Given the description of an element on the screen output the (x, y) to click on. 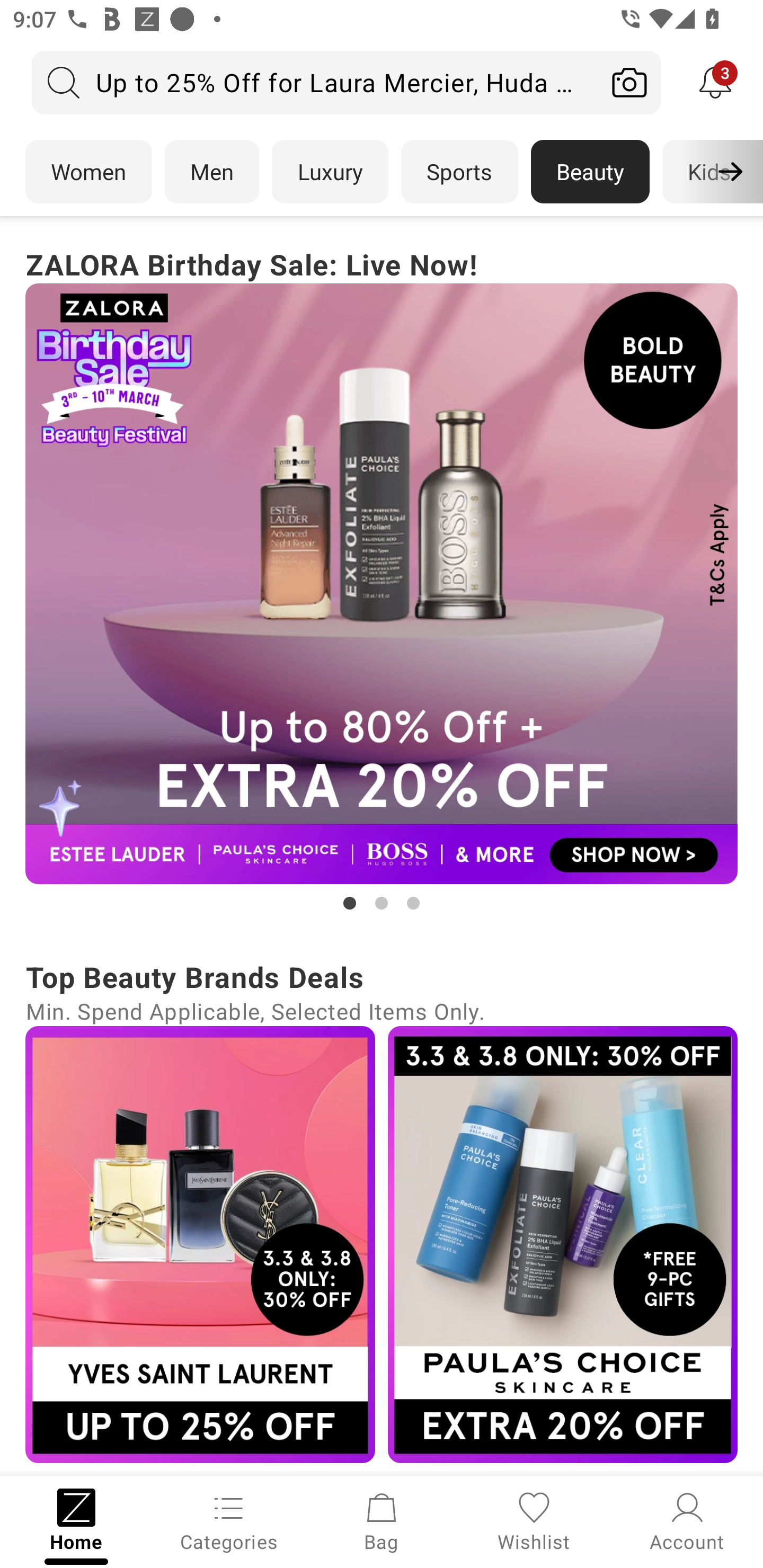
Women (88, 171)
Men (211, 171)
Luxury (329, 171)
Sports (459, 171)
Beauty (590, 171)
ZALORA Birthday Sale: Live Now!  Campaign banner (381, 578)
Campaign banner (381, 583)
Campaign banner (200, 1243)
Campaign banner (562, 1243)
Categories (228, 1519)
Bag (381, 1519)
Wishlist (533, 1519)
Account (686, 1519)
